Given the description of an element on the screen output the (x, y) to click on. 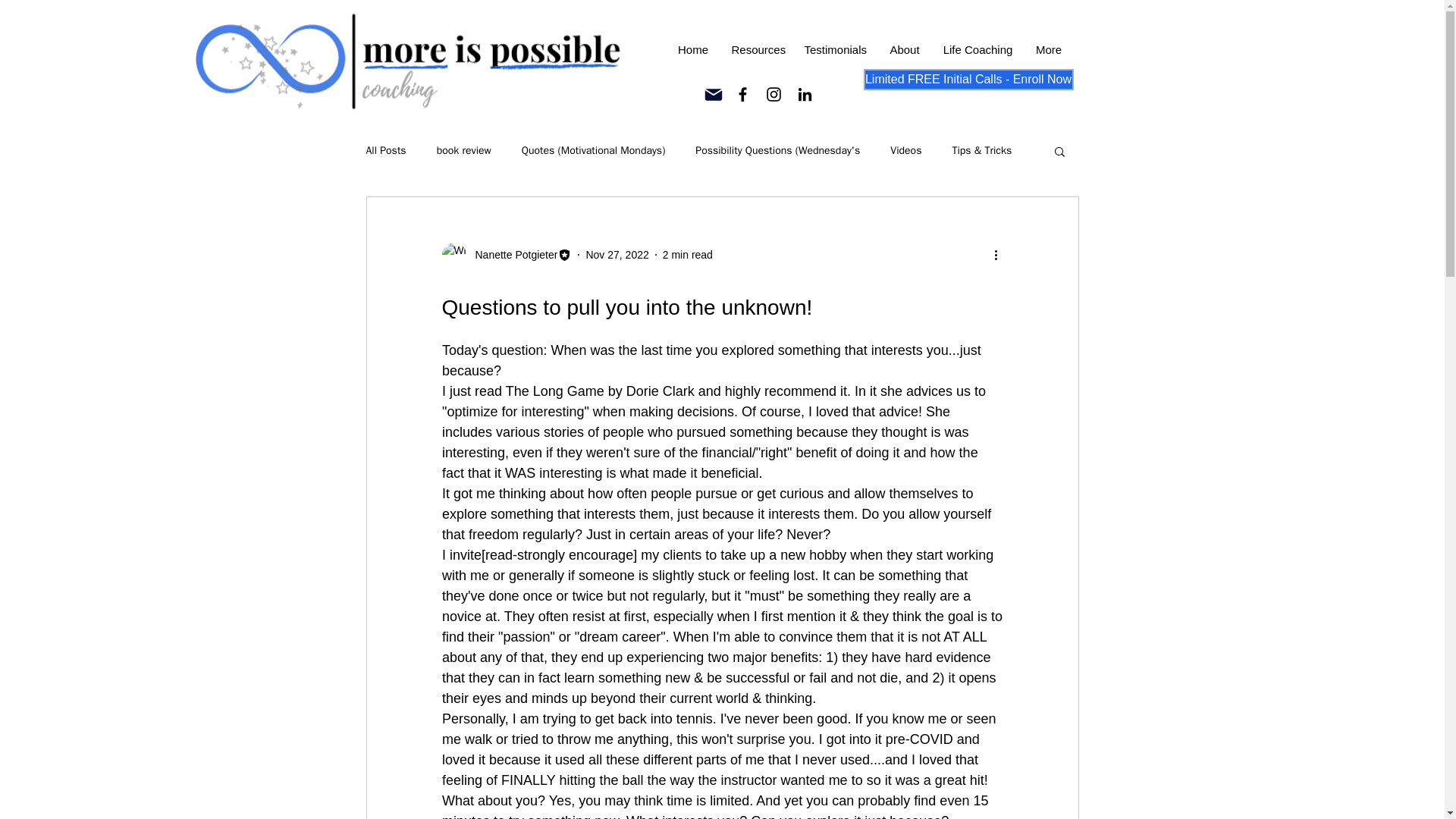
2 min read (687, 254)
Nanette Potgieter (511, 254)
About (904, 49)
Resources (756, 49)
Life Coaching (977, 49)
Testimonials (835, 49)
book review (464, 151)
All Posts (385, 151)
Nov 27, 2022 (616, 254)
Limited FREE Initial Calls - Enroll Now (968, 79)
